Given the description of an element on the screen output the (x, y) to click on. 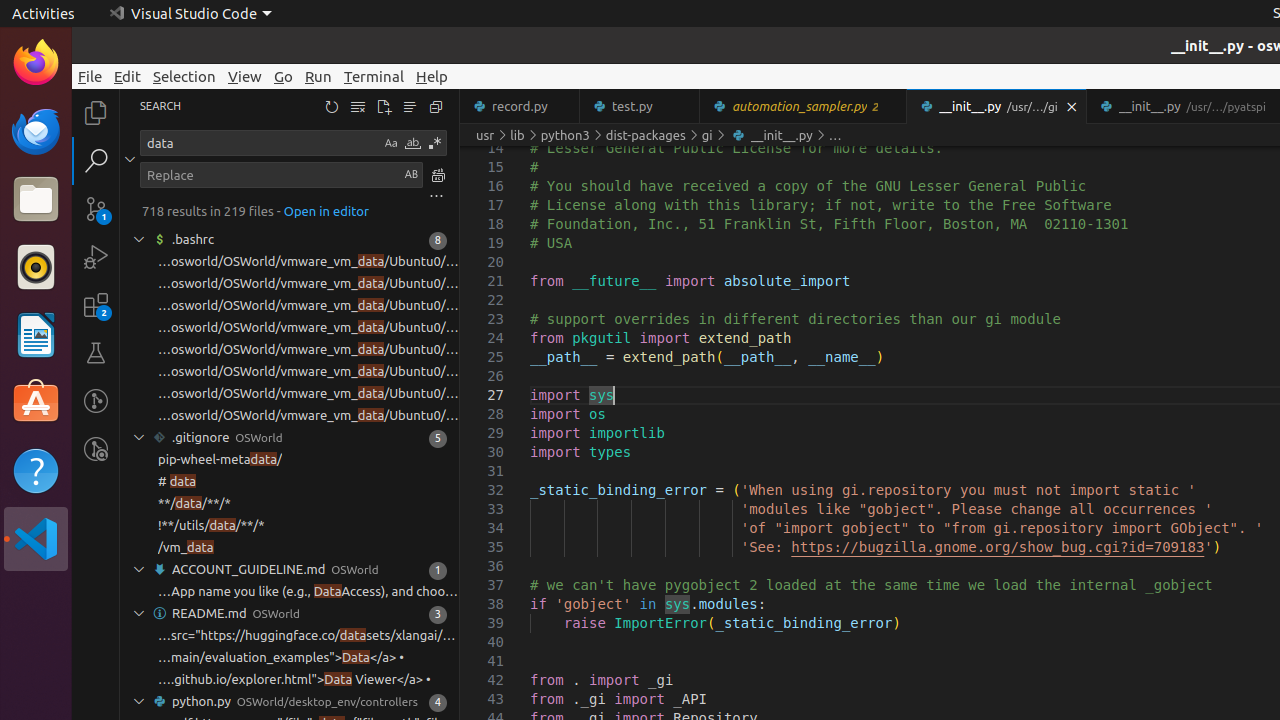
…osworld/OSWorld/vmware_vm_data/Ubuntu0/Ubuntu0.vmx "/bin/bash" "ip a > /home/user/vm.log" && vmrun -gu user -gp password copyFileFromGuestToHost /home/PJLAB/luyi1/osworld/OSWorld/vmware_vm_data/Ubuntu0/Ubuntu0.vmx /home/user/vm.log vm.log Element type: link (308, 349)
' <a href="https://os-world.github.io/explorer.html">Data Viewer</a> •' at column 54 found Data Element type: tree-item (289, 679)
GitLens Inspect Element type: page-tab (96, 449)
' <img src="https://huggingface.co/datasets/xlangai/assets/resolve/main/github_banner_v2.png" alt="Banner">' at column 36 found data Element type: tree-item (289, 635)
View Element type: push-button (245, 76)
